Given the description of an element on the screen output the (x, y) to click on. 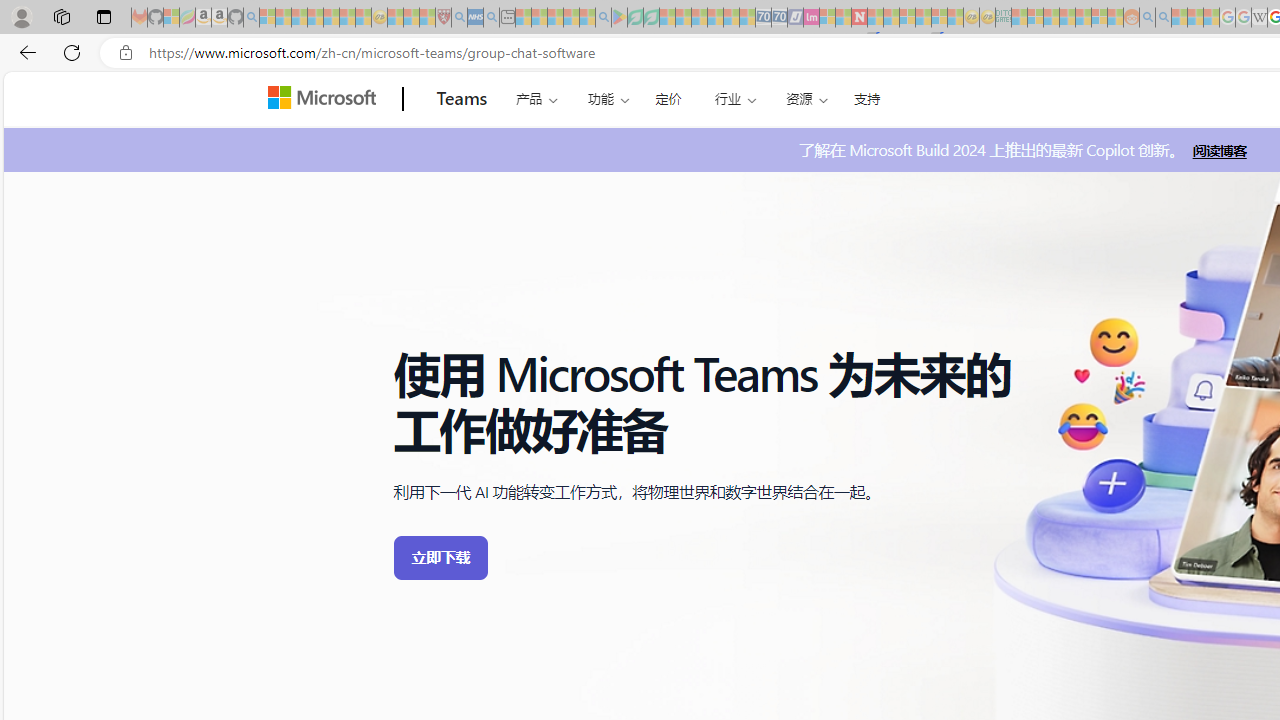
Bluey: Let's Play! - Apps on Google Play - Sleeping (619, 17)
Local - MSN - Sleeping (427, 17)
Cheap Hotels - Save70.com - Sleeping (779, 17)
Pets - MSN - Sleeping (571, 17)
